Given the description of an element on the screen output the (x, y) to click on. 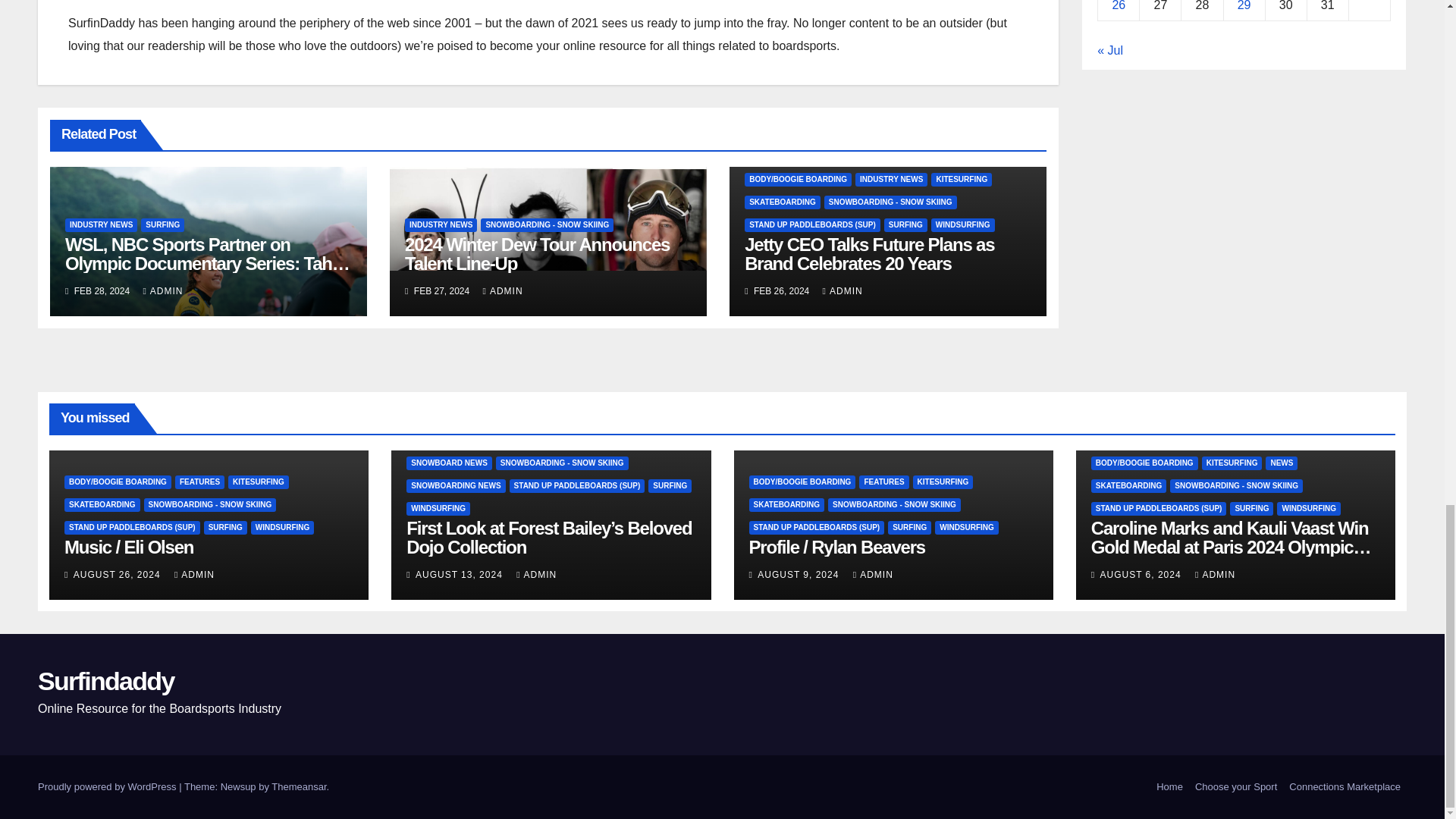
INDUSTRY NEWS (100, 224)
ADMIN (162, 290)
SURFING (162, 224)
Permalink to: 2024 Winter Dew Tour Announces Talent Line-Up (536, 253)
